Given the description of an element on the screen output the (x, y) to click on. 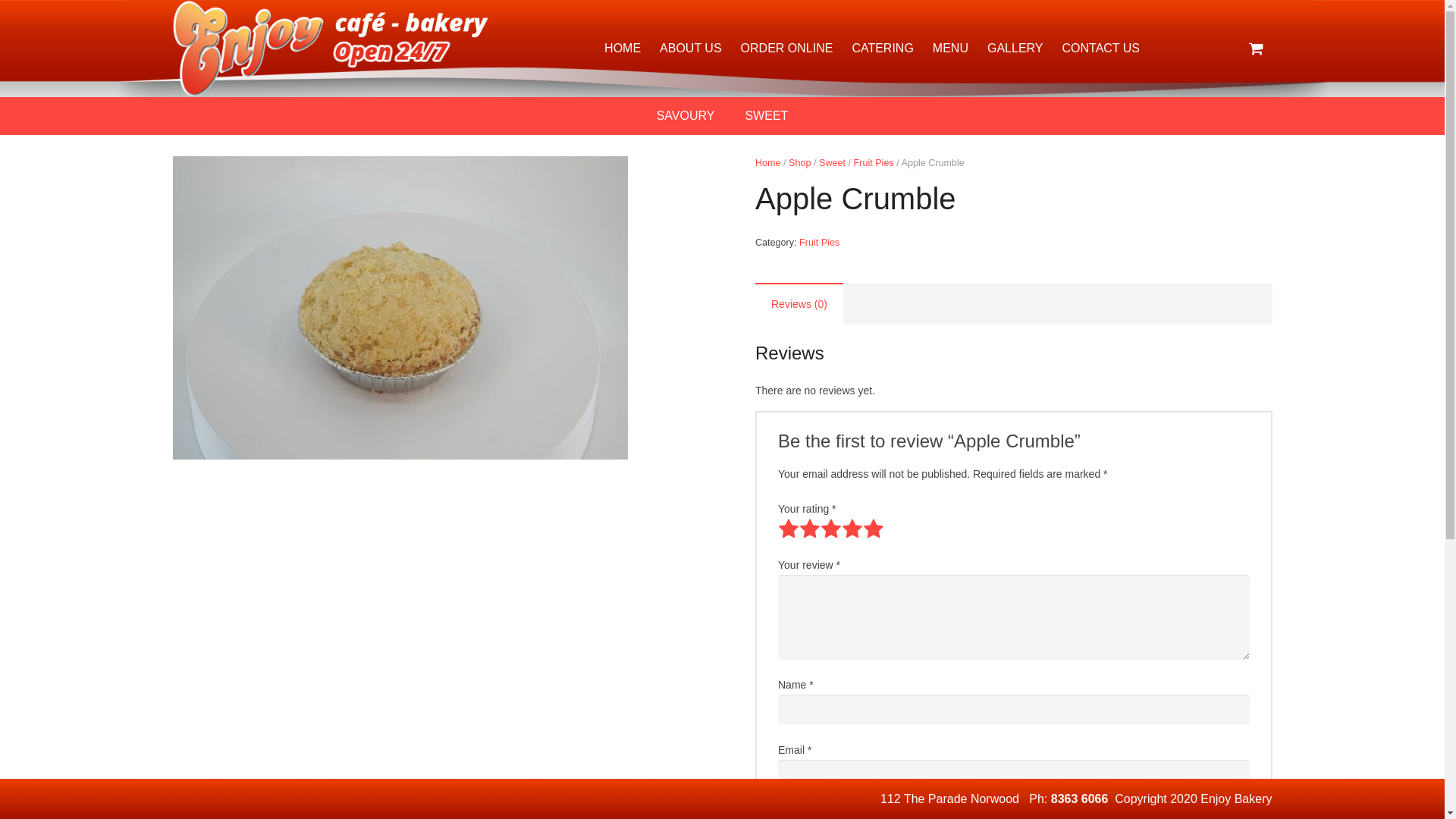
8363 6066 Element type: text (1079, 798)
GALLERY Element type: text (1014, 48)
Fruit Pies Element type: text (873, 162)
Home Element type: text (768, 162)
4 Element type: text (851, 528)
CONTACT US Element type: text (1100, 48)
Fruit Pies Element type: text (819, 242)
112 The Parade Norwood Element type: text (949, 798)
Sweet Element type: text (832, 162)
2 Element type: text (809, 528)
Shop Element type: text (799, 162)
5 Element type: text (873, 528)
SAVOURY Element type: text (685, 115)
1 Element type: text (788, 528)
CATERING Element type: text (882, 48)
crumble Element type: hover (399, 307)
3 Element type: text (830, 528)
Reviews (0) Element type: text (799, 304)
ABOUT US Element type: text (690, 48)
ORDER ONLINE Element type: text (786, 48)
HOME Element type: text (622, 48)
0 Element type: text (1255, 48)
MENU Element type: text (949, 48)
SWEET Element type: text (766, 115)
